Given the description of an element on the screen output the (x, y) to click on. 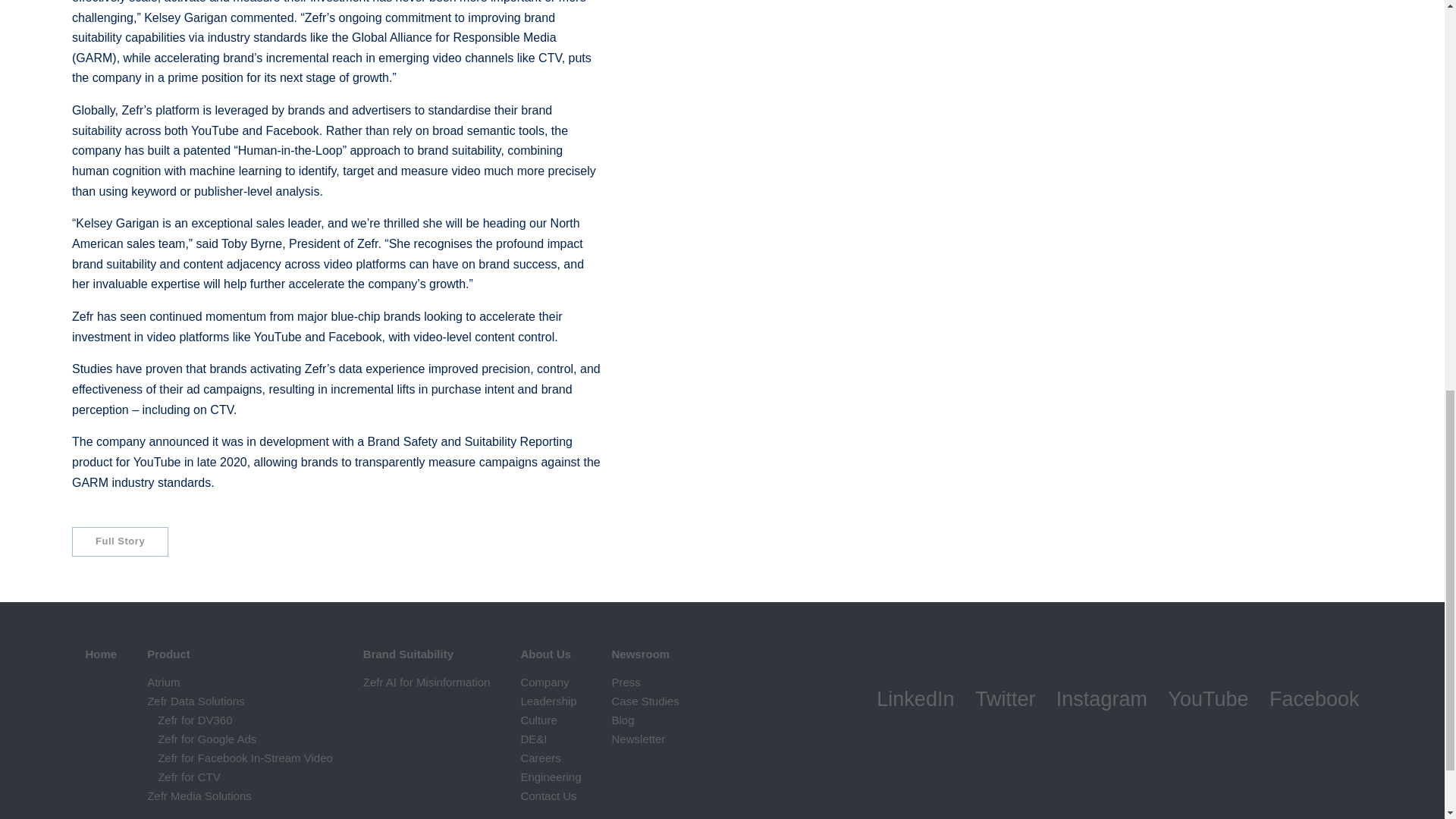
Atrium (163, 681)
Product (168, 653)
Zefr Data Solutions (195, 700)
Home (100, 653)
Zefr for Google Ads (206, 738)
Zefr for DV360 (194, 719)
Full Story (119, 541)
